Given the description of an element on the screen output the (x, y) to click on. 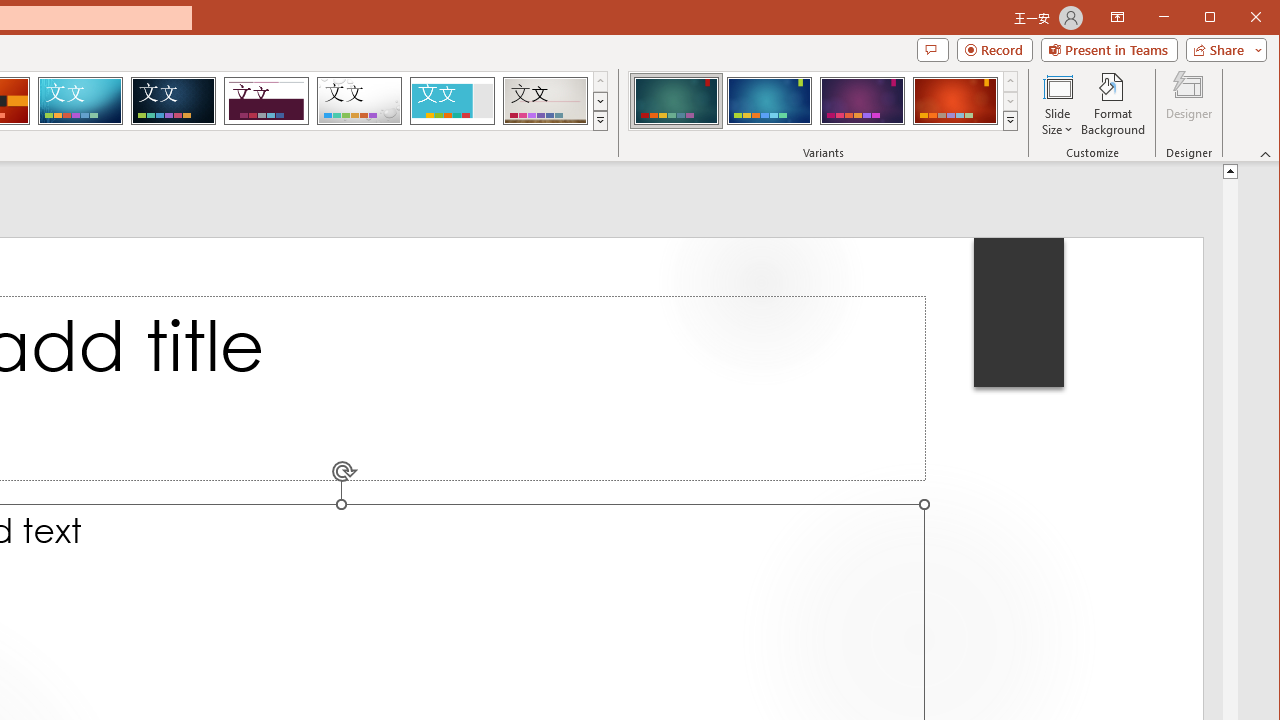
Damask (173, 100)
Ion Variant 1 (676, 100)
Droplet (359, 100)
Circuit (80, 100)
Frame (452, 100)
